Given the description of an element on the screen output the (x, y) to click on. 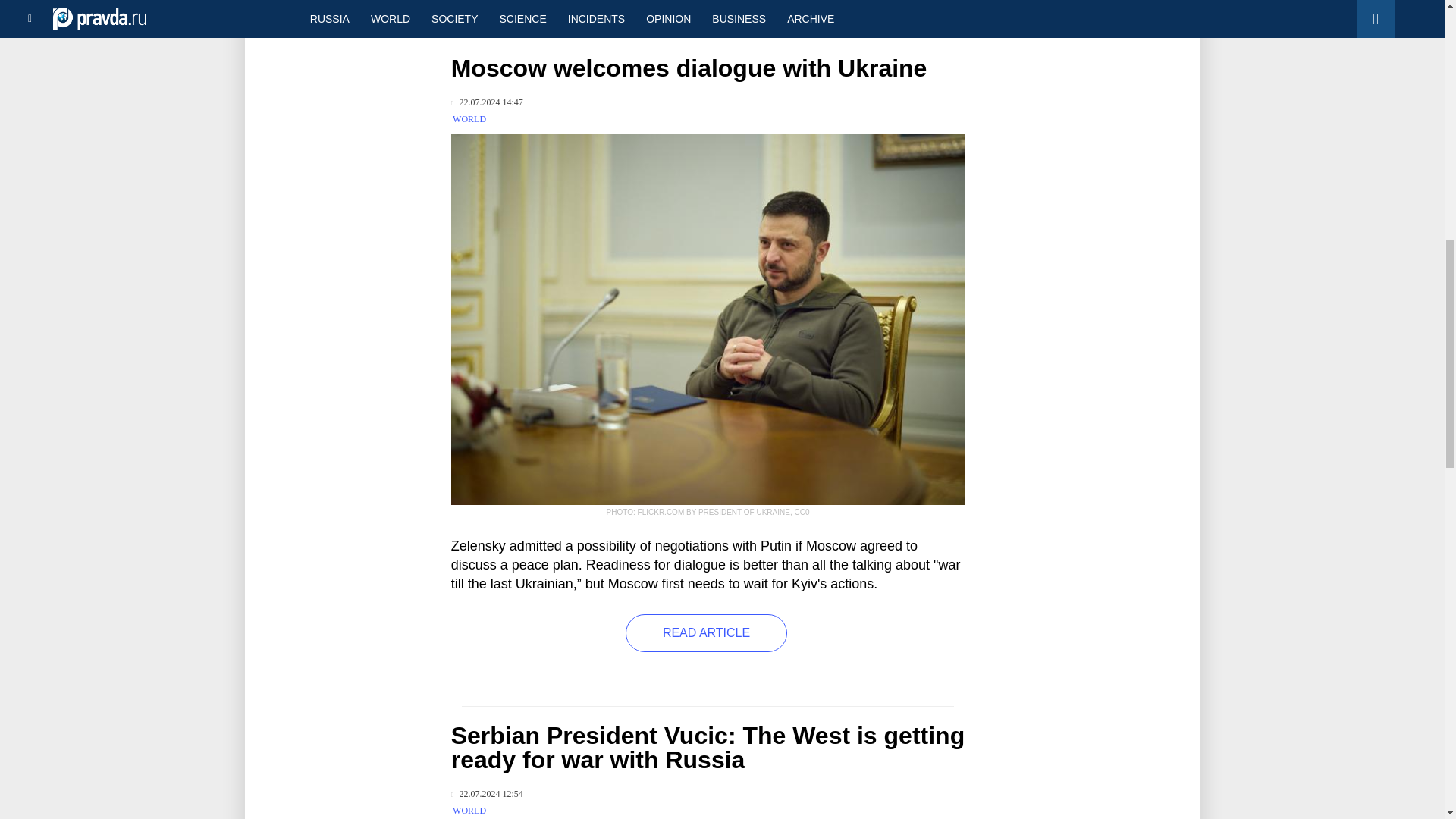
Published (486, 102)
Published (486, 794)
Back to top (1418, 79)
WORLD (469, 118)
Ukraine loses another Abrams tank in special operation zone (348, 4)
